Given the description of an element on the screen output the (x, y) to click on. 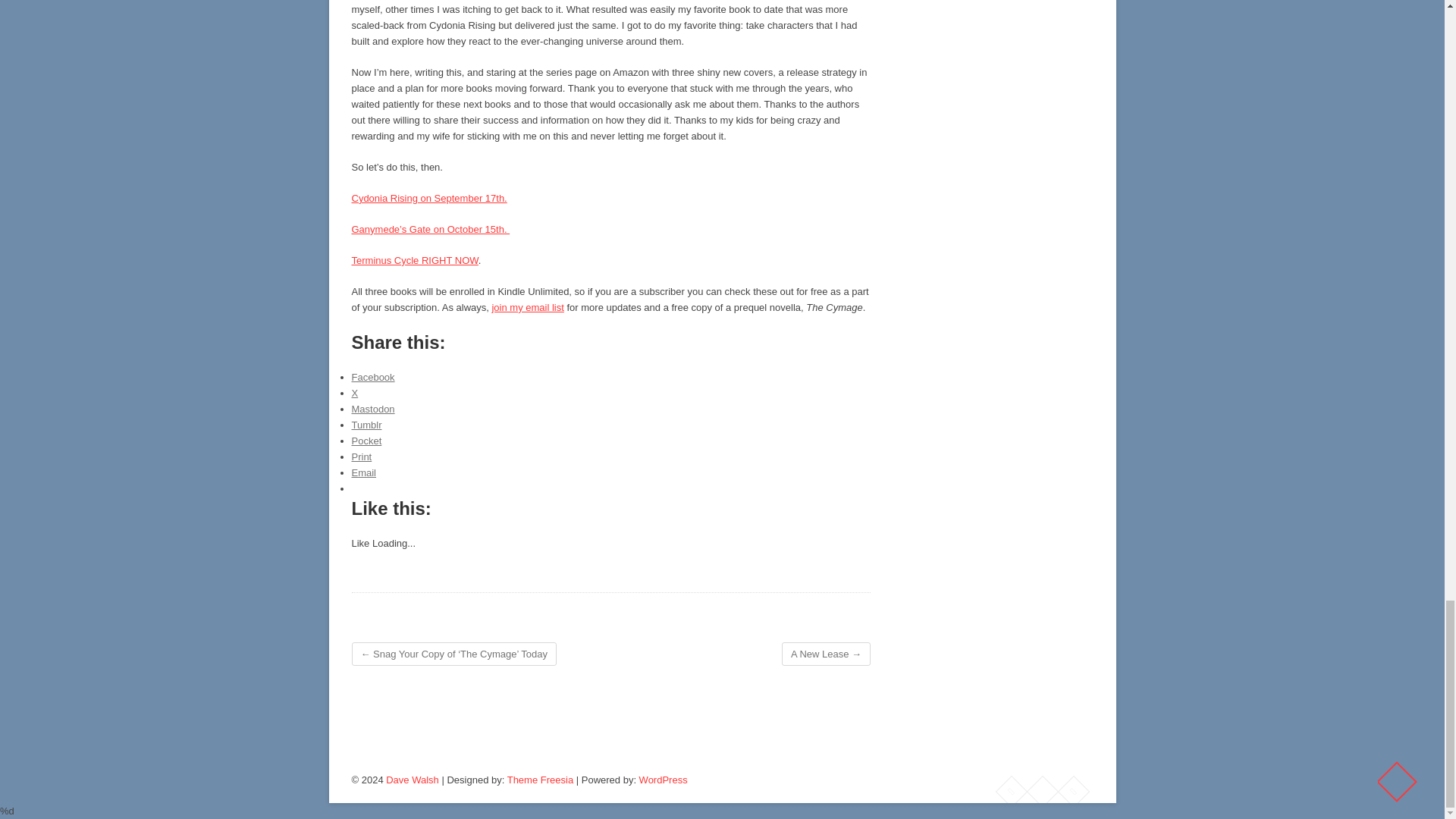
Click to share on Facebook (373, 377)
Click to share on Pocket (366, 440)
Dave Walsh (412, 779)
Click to print (362, 456)
WordPress (663, 779)
Theme Freesia (539, 779)
Click to share on Tumblr (366, 424)
Click to share on Mastodon (373, 408)
Click to email a link to a friend (364, 472)
